Given the description of an element on the screen output the (x, y) to click on. 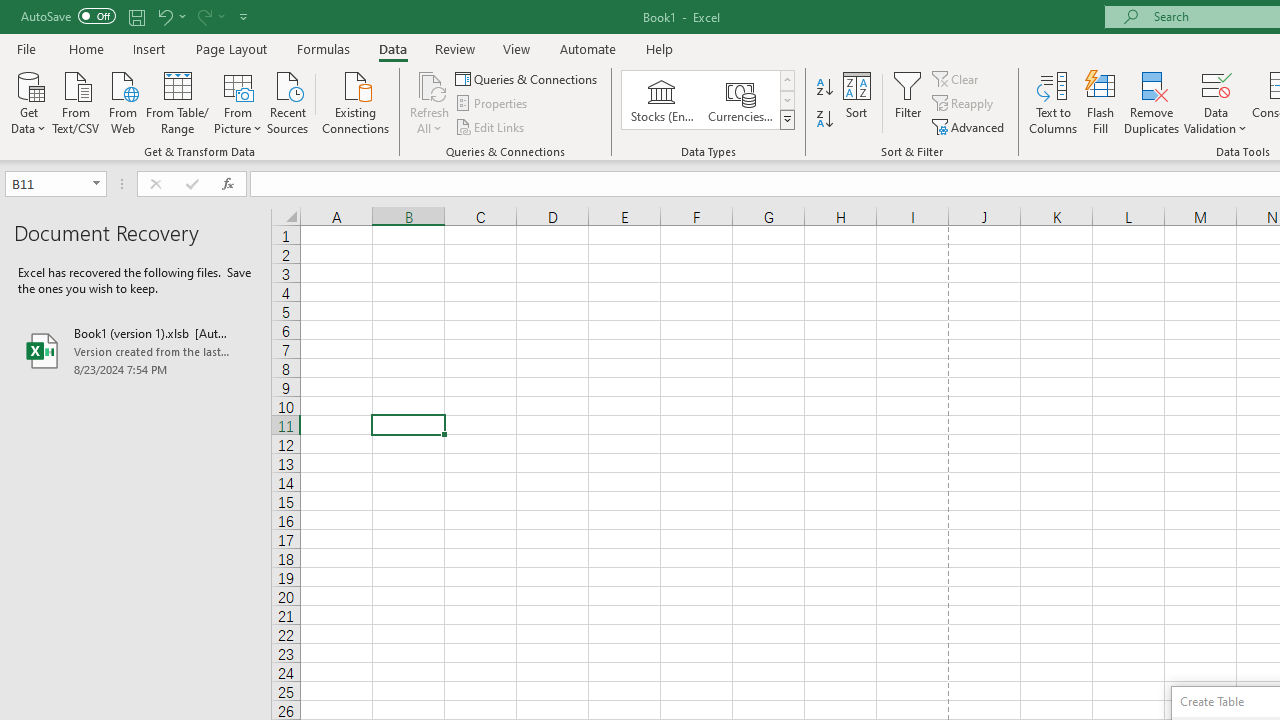
Flash Fill (1101, 102)
Filter (908, 102)
From Text/CSV (75, 101)
Text to Columns... (1053, 102)
Sort A to Z (824, 87)
Clear (957, 78)
